Given the description of an element on the screen output the (x, y) to click on. 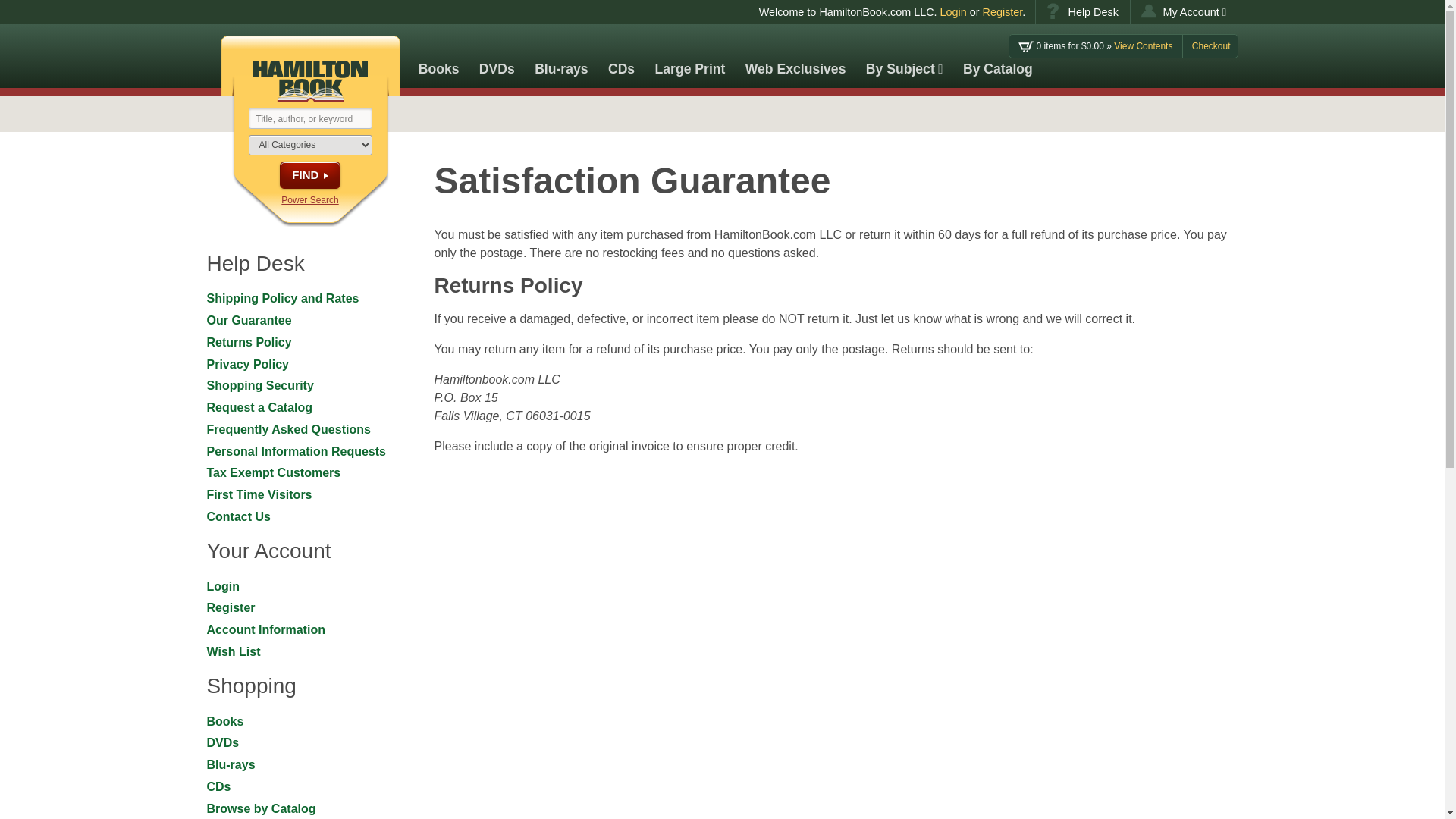
Click to open My Account menu (1184, 12)
Power Search (309, 199)
Checkout (1211, 46)
Large Print (690, 55)
Blu-rays (561, 55)
Account Icon My Account (1184, 12)
Go to your Cart (1094, 46)
Books (437, 55)
Help Icon Help Desk (1082, 12)
Web Exclusives (795, 55)
